Given the description of an element on the screen output the (x, y) to click on. 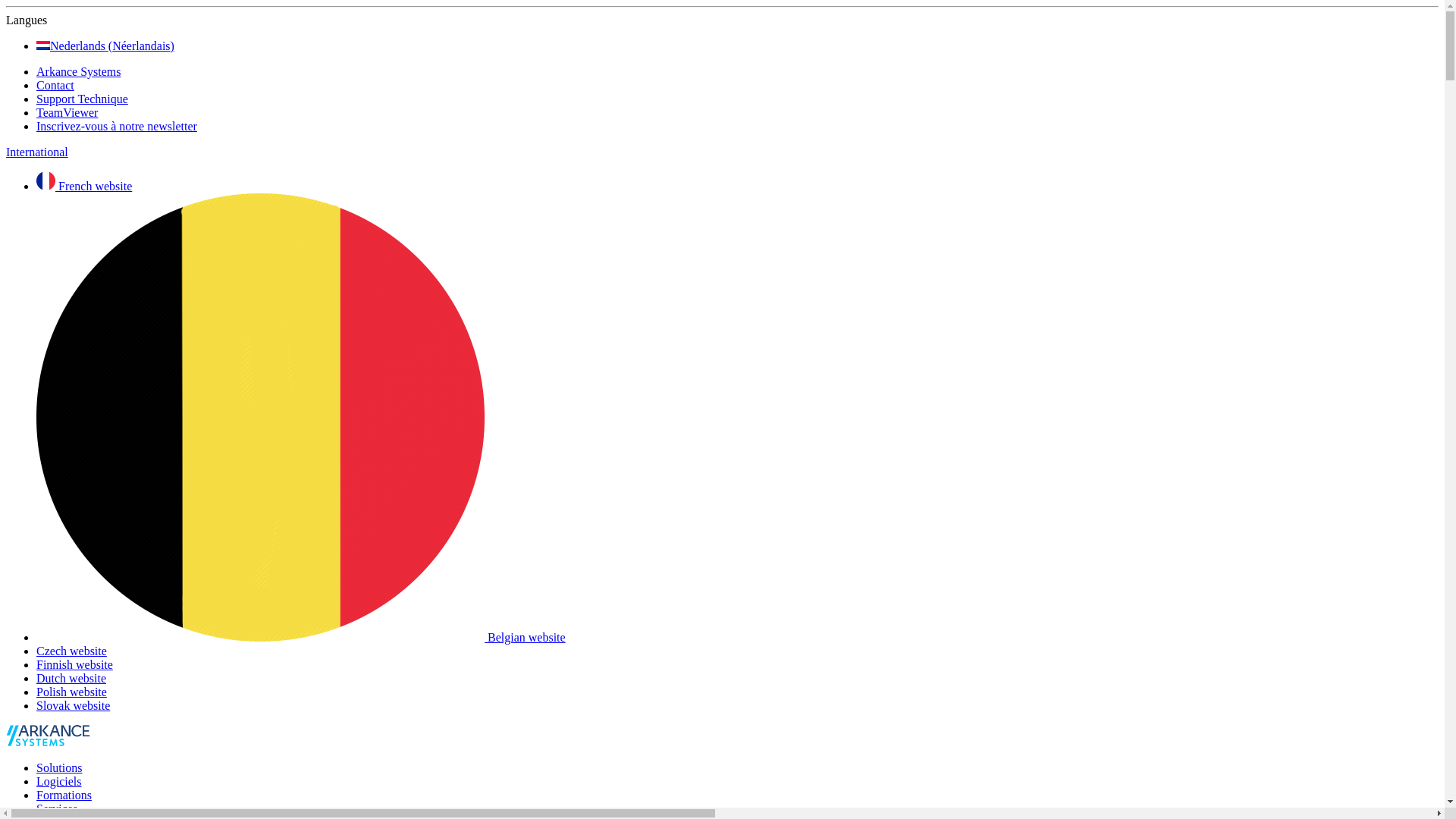
French website Element type: text (83, 185)
International Element type: text (37, 151)
Formations Element type: text (63, 794)
Dutch website Element type: text (71, 677)
Logiciels Element type: text (58, 781)
Arkance Systems Element type: text (78, 71)
Belgian website Element type: text (300, 636)
Czech website Element type: text (71, 650)
TeamViewer Element type: text (66, 112)
Contact Element type: text (55, 84)
Slovak website Element type: text (72, 705)
Support Technique Element type: text (82, 98)
Solutions Element type: text (58, 767)
Polish website Element type: text (71, 691)
Finnish website Element type: text (74, 664)
Services Element type: text (56, 808)
